Given the description of an element on the screen output the (x, y) to click on. 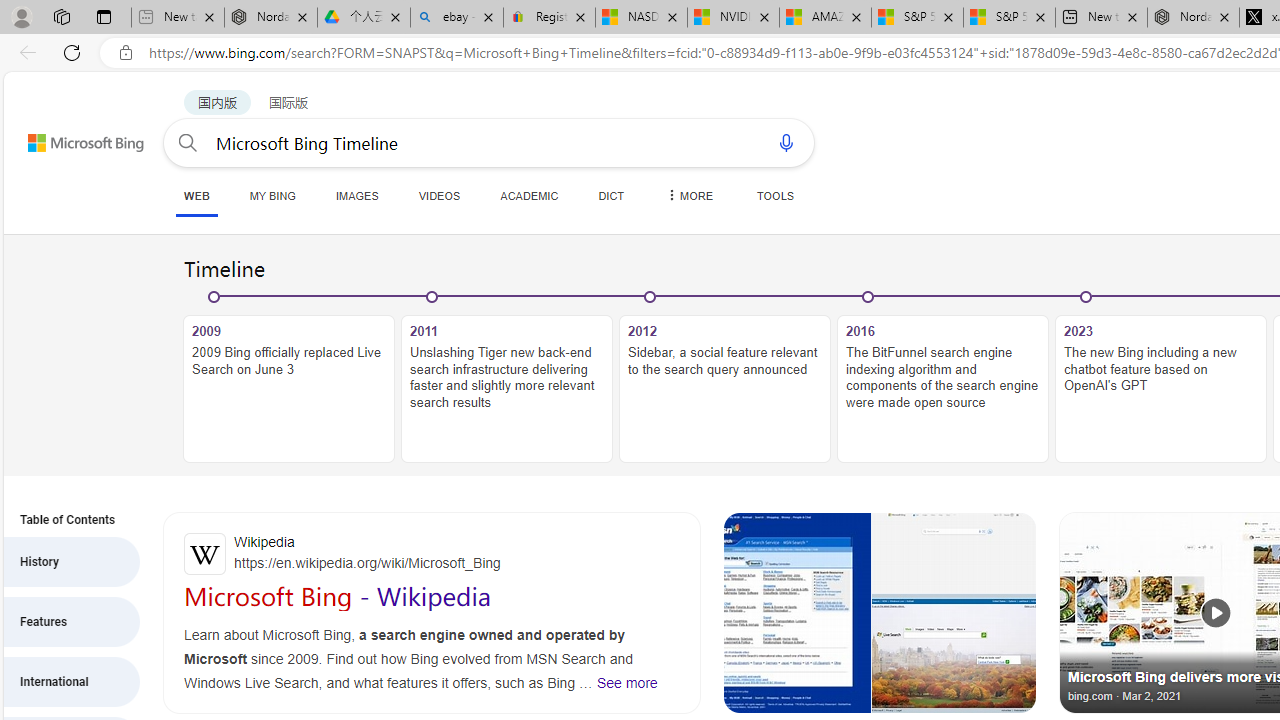
Skip to content (63, 133)
Global web icon (205, 553)
VIDEOS (438, 195)
Wikipedia (431, 553)
MY BING (272, 195)
Search using voice (785, 142)
See more (953, 653)
VIDEOS (438, 195)
Register: Create a personal eBay account (549, 17)
